Given the description of an element on the screen output the (x, y) to click on. 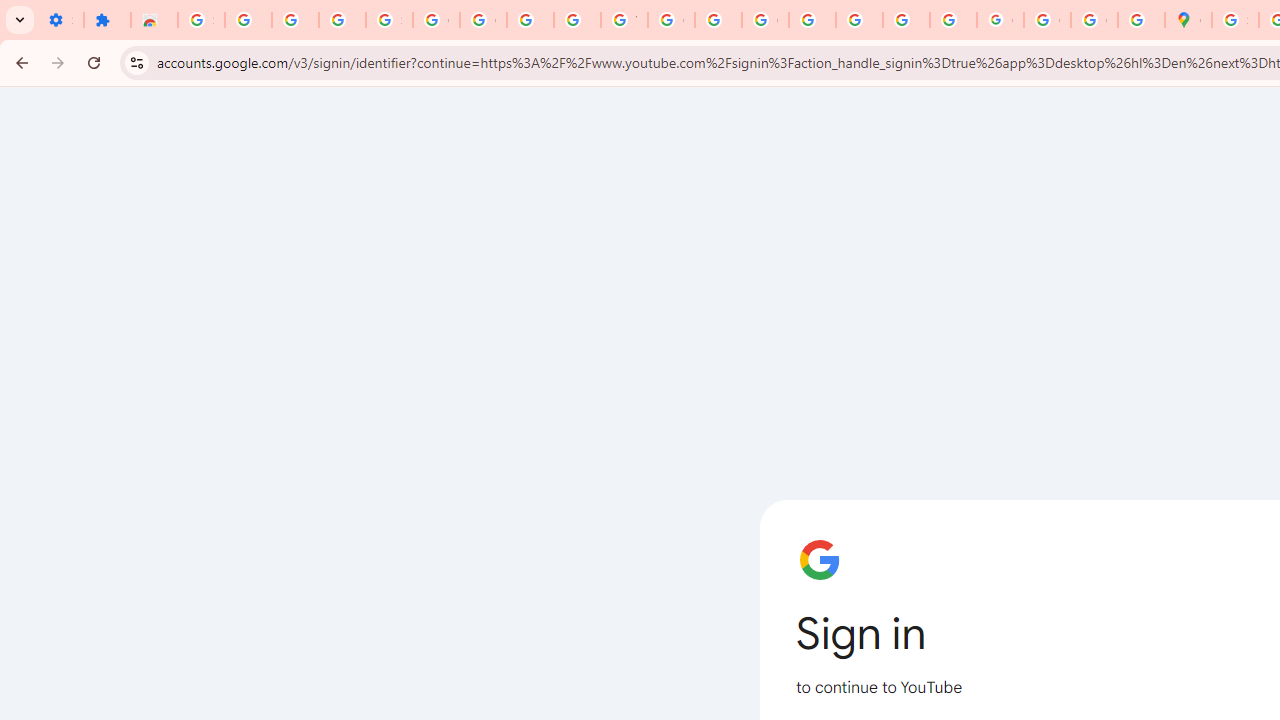
YouTube (623, 20)
Delete photos & videos - Computer - Google Photos Help (248, 20)
